Given the description of an element on the screen output the (x, y) to click on. 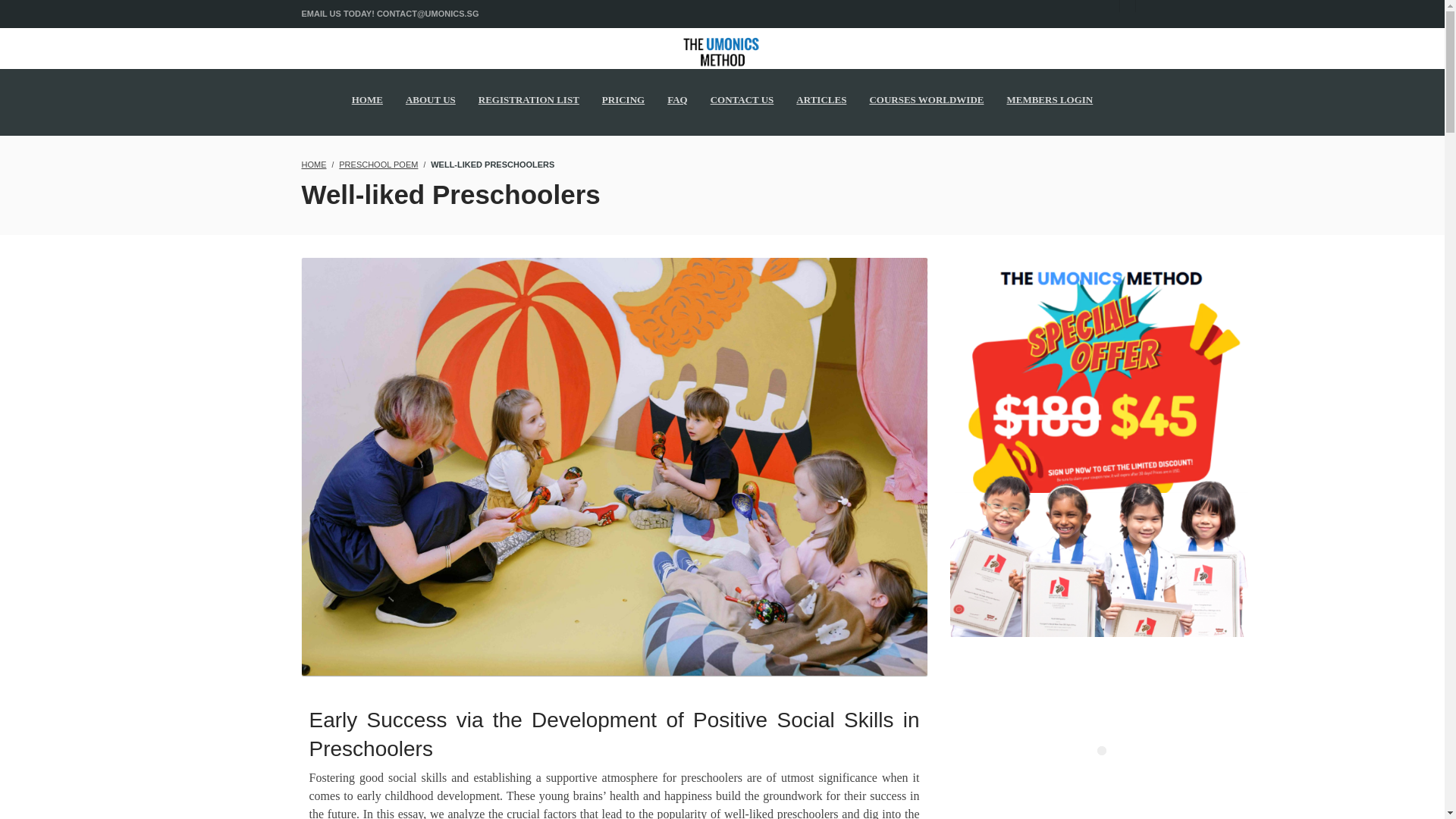
ARTICLES (820, 99)
COURSES WORLDWIDE (925, 99)
PRESCHOOL POEM (378, 163)
PRICING (623, 99)
REGISTRATION LIST (529, 99)
MEMBERS LOGIN (1048, 99)
CONTACT US (742, 99)
ABOUT US (430, 99)
HOME (313, 163)
